Given the description of an element on the screen output the (x, y) to click on. 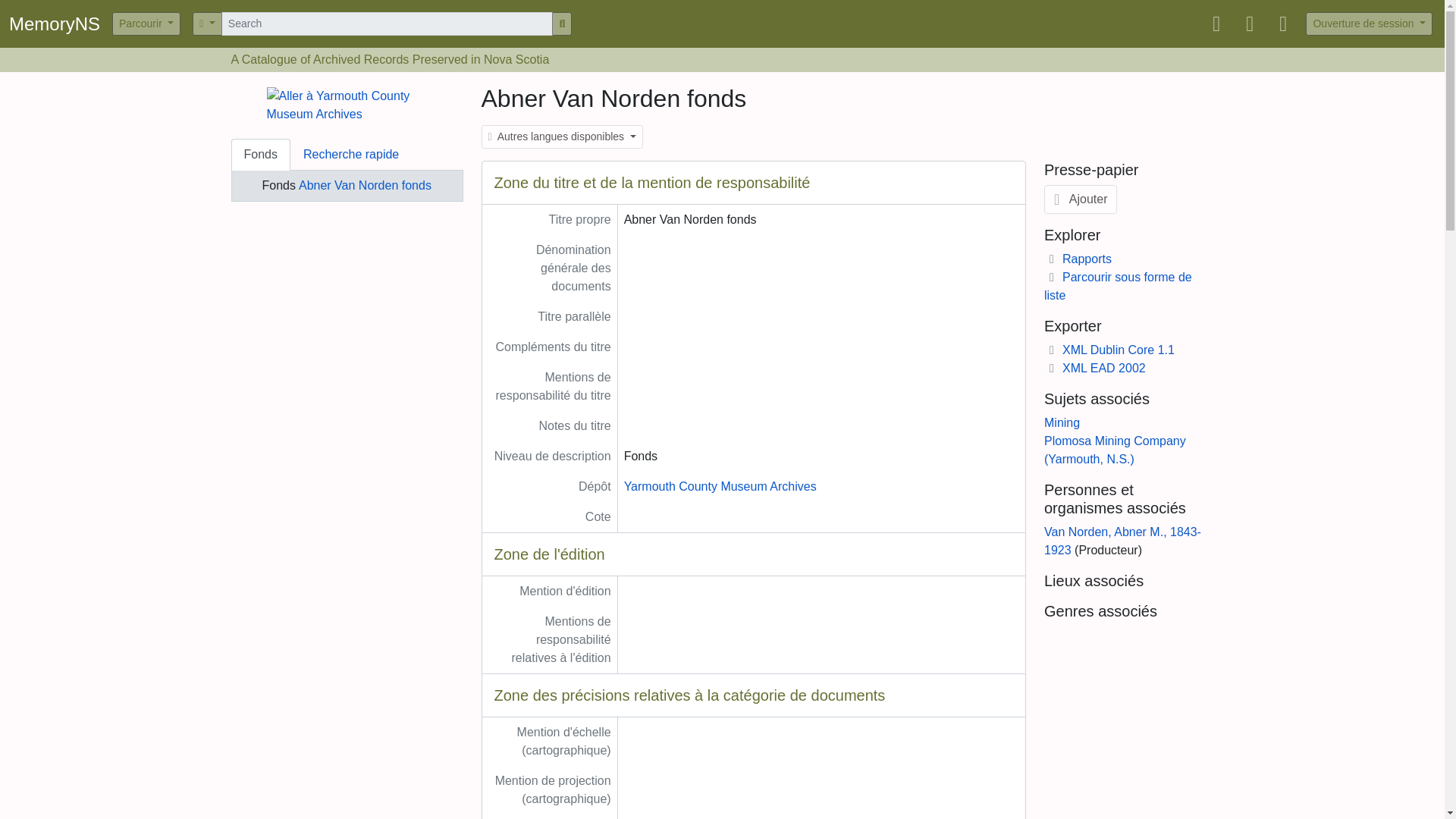
Liens rapides (1283, 23)
Liens rapides (1283, 23)
Search options (207, 24)
MemoryNS (60, 23)
Clipboard (1216, 23)
Skip to main content (54, 11)
Clipboard (1216, 23)
Langue (1249, 23)
Abner Van Norden fonds (364, 185)
Recherche rapide (350, 154)
Accueil (60, 23)
Yarmouth County Museum Archives (720, 486)
Parcourir (146, 24)
Langue (1249, 23)
Ouverture de session (1369, 24)
